Given the description of an element on the screen output the (x, y) to click on. 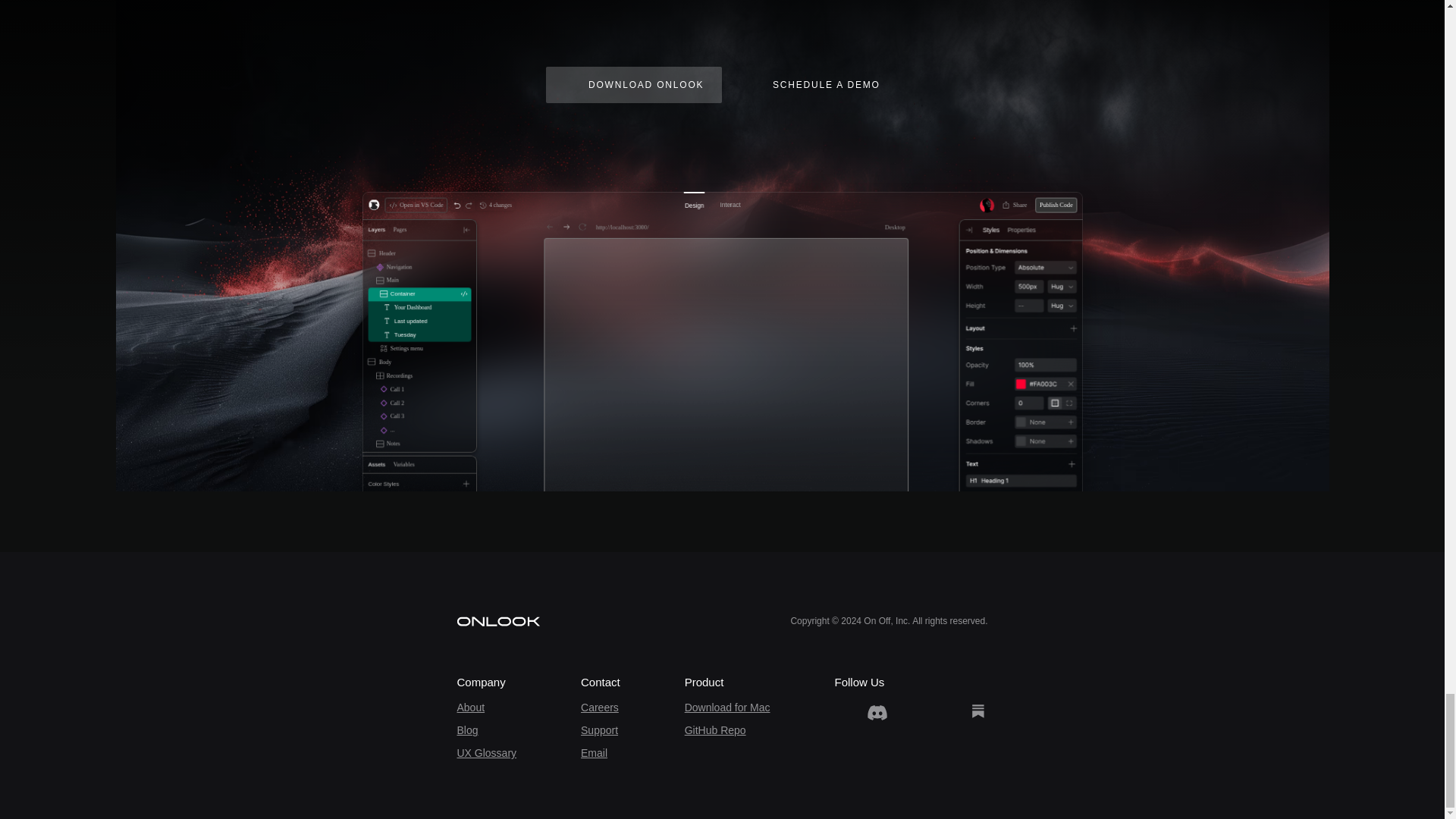
GitHub Repo (714, 729)
Support (598, 729)
Download for Mac (727, 707)
SCHEDULE A DEMO (814, 84)
About (470, 707)
Careers (599, 707)
DOWNLOAD ONLOOK (634, 84)
Blog (467, 729)
UX Glossary (486, 752)
Email (593, 752)
